Given the description of an element on the screen output the (x, y) to click on. 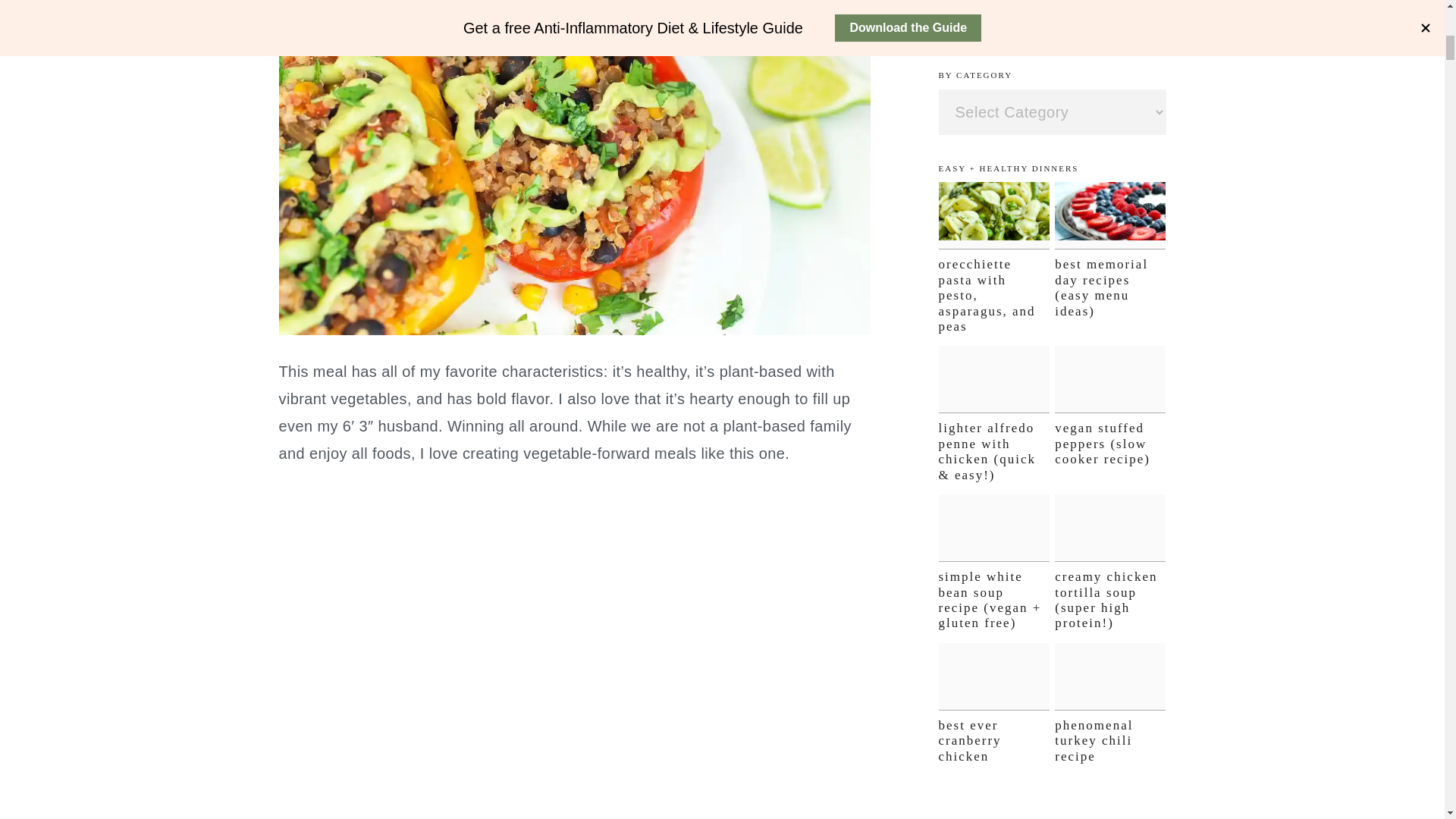
Orecchiette Pasta with Pesto, Asparagus, and Peas (994, 215)
Best Ever Cranberry Chicken (994, 676)
Phenomenal Turkey Chili Recipe (1110, 676)
